Given the description of an element on the screen output the (x, y) to click on. 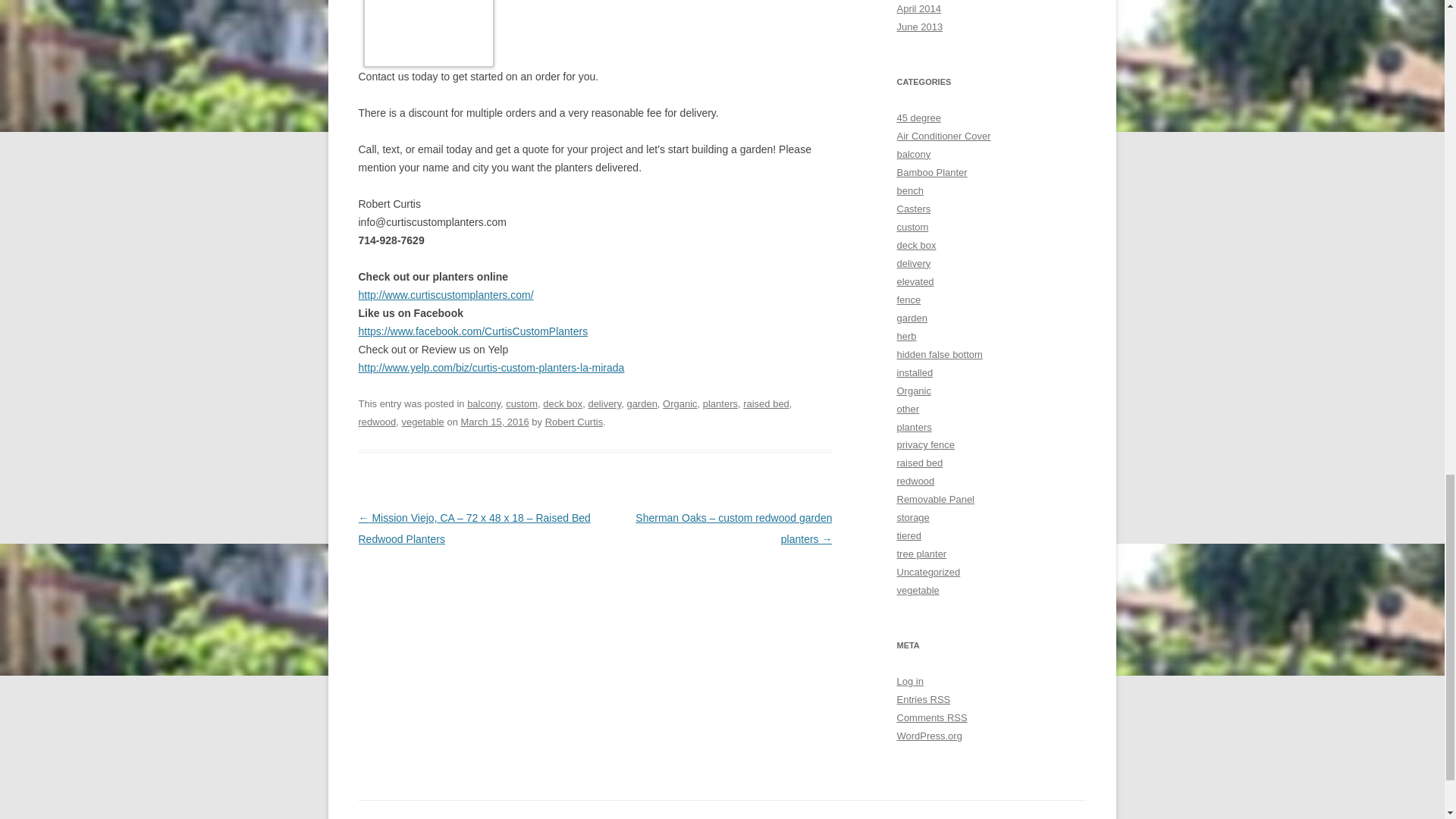
deck box (562, 403)
vegetable (422, 421)
raised bed (765, 403)
View all posts by Robert Curtis (574, 421)
delivery (604, 403)
planters (720, 403)
custom (521, 403)
Really Simple Syndication (940, 699)
4:14 pm (495, 421)
